Given the description of an element on the screen output the (x, y) to click on. 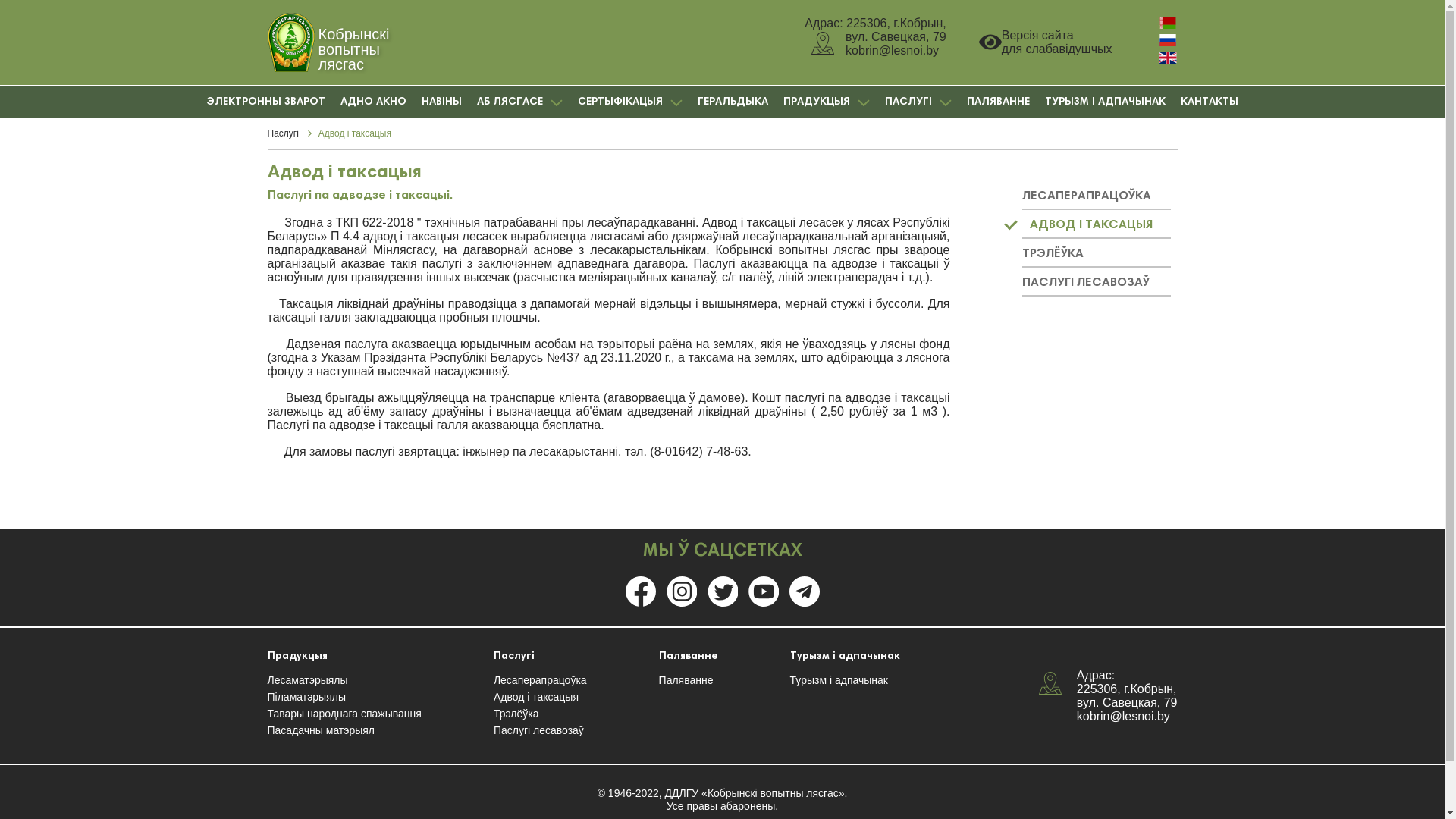
kobrin@lesnoi.by Element type: text (1123, 715)
